Given the description of an element on the screen output the (x, y) to click on. 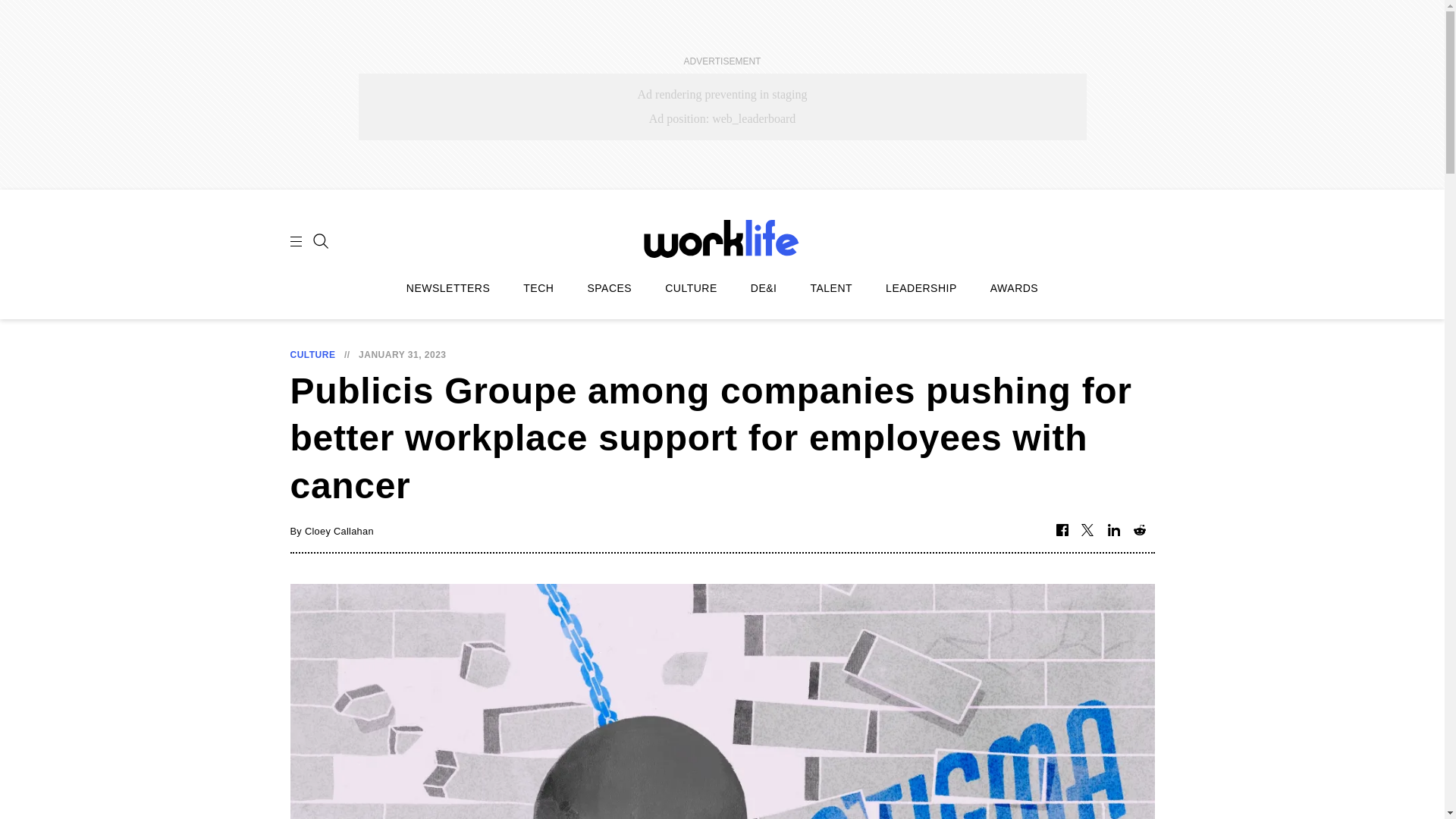
Share on LinkedIn (1113, 530)
CULTURE (311, 354)
CULTURE (691, 288)
NEWSLETTERS (448, 288)
LinkedIn (1113, 530)
Twitter (1087, 530)
LEADERSHIP (920, 288)
Share on Twitter (1087, 530)
TECH (537, 288)
Facebook (1061, 530)
